Given the description of an element on the screen output the (x, y) to click on. 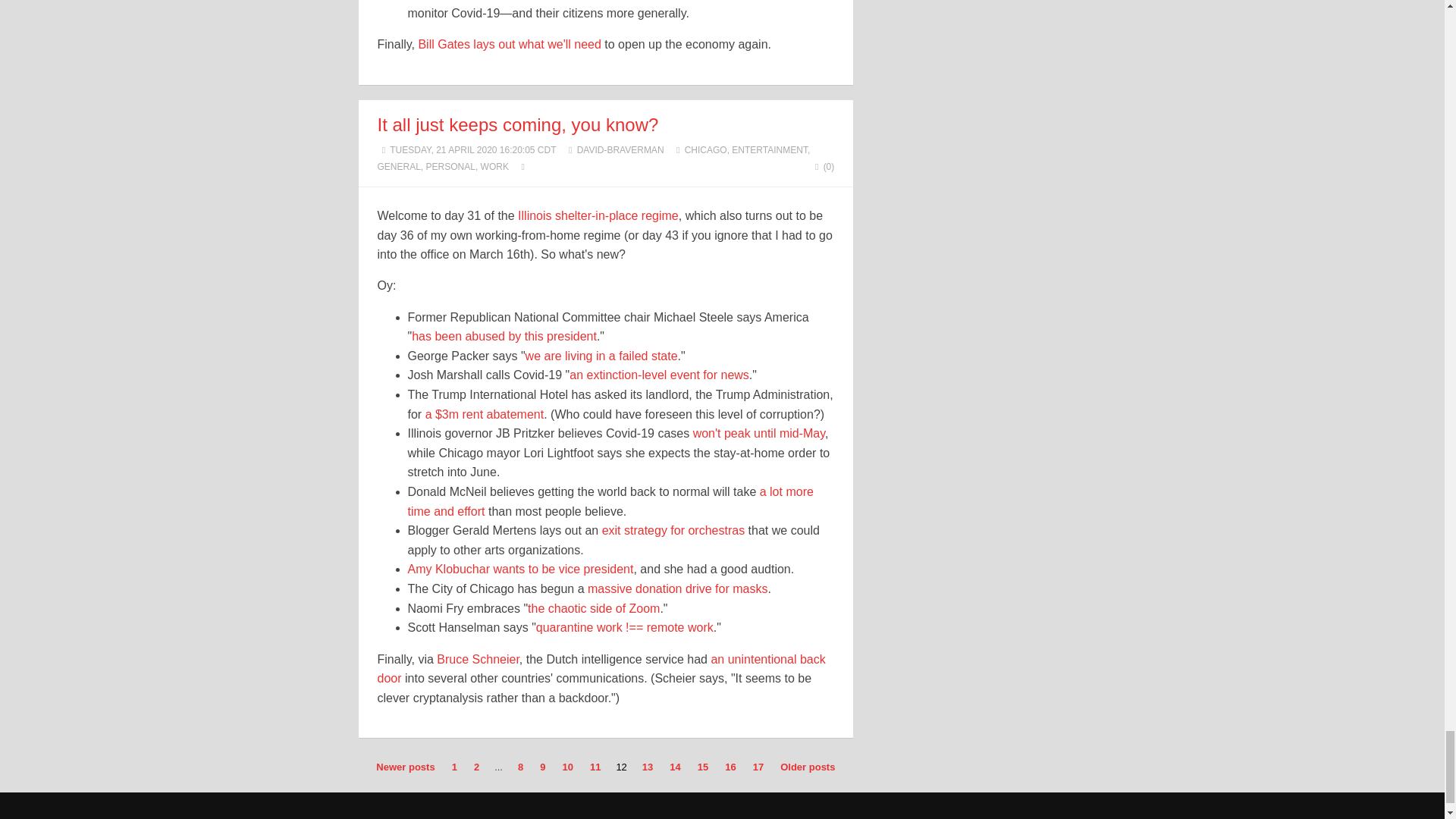
Open a map of the location where this post was written (522, 166)
